Given the description of an element on the screen output the (x, y) to click on. 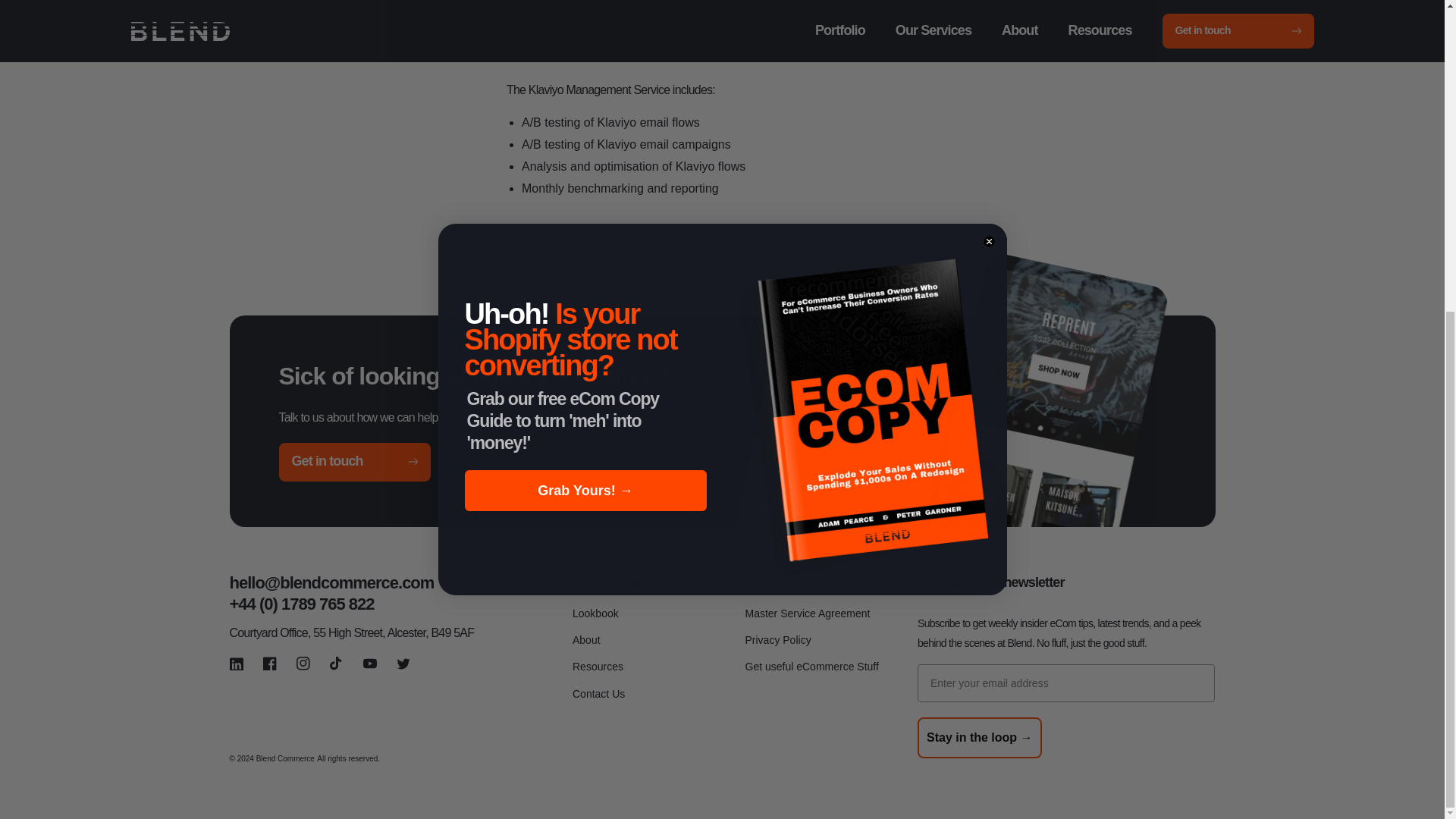
About (585, 640)
Get in touch (354, 462)
Instagram (303, 663)
Twitter (403, 663)
eCom Copy Guide Book (864, 49)
Blend Commerce (285, 758)
Linkedin (236, 663)
TikTok (336, 663)
Lookbook (595, 615)
YouTube (370, 663)
Facebook (269, 663)
